Given the description of an element on the screen output the (x, y) to click on. 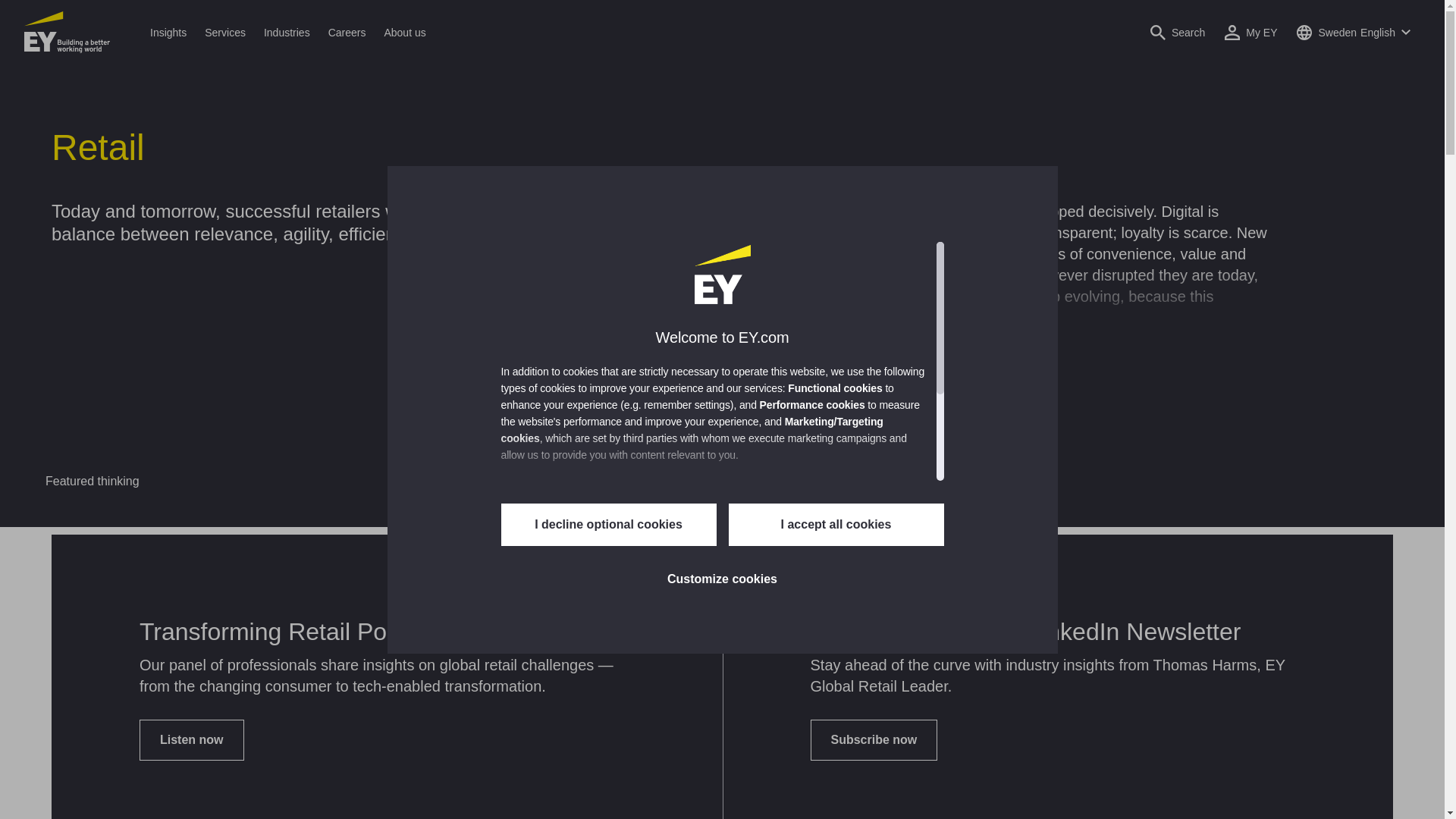
EY Homepage (67, 32)
Open country language switcher (1352, 32)
Open search (1177, 32)
My EY (1251, 32)
